Given the description of an element on the screen output the (x, y) to click on. 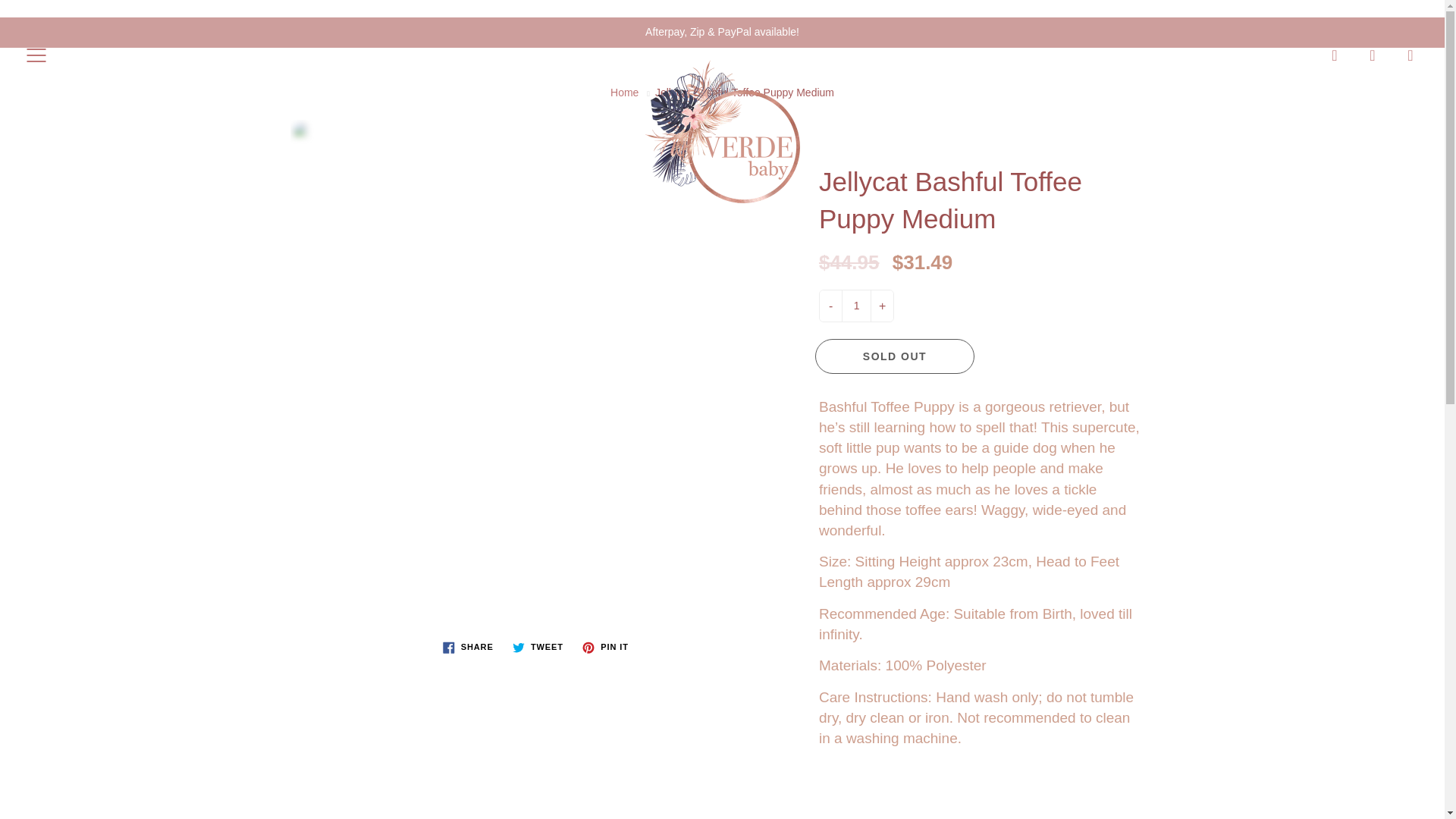
You have 0 items in your cart (1410, 55)
Tweet on Twitter (537, 647)
Share on Facebook (467, 647)
Search (1334, 55)
My account (1372, 55)
Pin on Pinterest (604, 647)
1 (855, 305)
Home (624, 92)
Press space bar to toggle menu (36, 55)
